Given the description of an element on the screen output the (x, y) to click on. 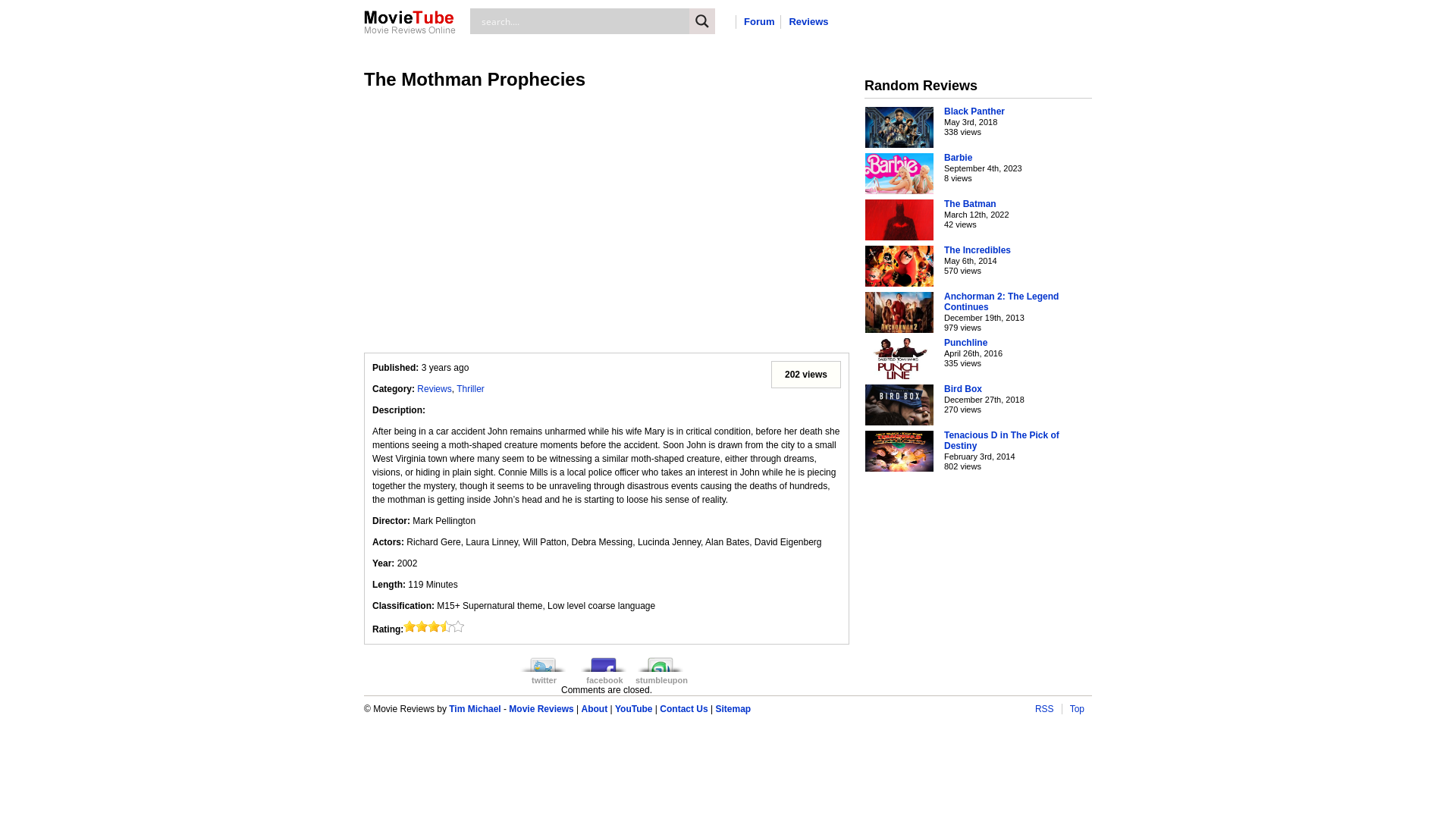
Movie Reviews Element type: text (540, 708)
The Batman Element type: text (970, 203)
The Incredibles Element type: text (977, 249)
stumbleupon Element type: text (661, 666)
Movie Reviews Element type: hover (409, 30)
Black Panther Element type: hover (900, 126)
Sitemap Element type: text (732, 708)
Reviews Element type: text (808, 21)
Tenacious D in The Pick of Destiny Element type: text (1001, 440)
Anchorman 2: The Legend Continues Element type: text (1001, 301)
The Batman Element type: hover (900, 219)
Black Panther Element type: text (974, 111)
RSS Element type: text (1044, 708)
Tenacious D in The Pick of Destiny Element type: hover (900, 450)
twitter Element type: text (543, 666)
Tim Michael Element type: text (474, 708)
About Element type: text (594, 708)
Barbie Element type: text (958, 157)
Contact Us Element type: text (683, 708)
Reviews Element type: text (434, 388)
The Incredibles Element type: hover (900, 265)
facebook Element type: text (604, 666)
Punchline Element type: hover (900, 358)
Barbie Element type: hover (900, 173)
Forum Element type: text (758, 21)
Top Element type: text (1076, 708)
Punchline Element type: text (965, 342)
YouTube Element type: text (633, 708)
Bird Box Element type: hover (900, 404)
Anchorman 2: The Legend Continues Element type: hover (900, 311)
Thriller Element type: text (470, 388)
Bird Box Element type: text (963, 388)
